Given the description of an element on the screen output the (x, y) to click on. 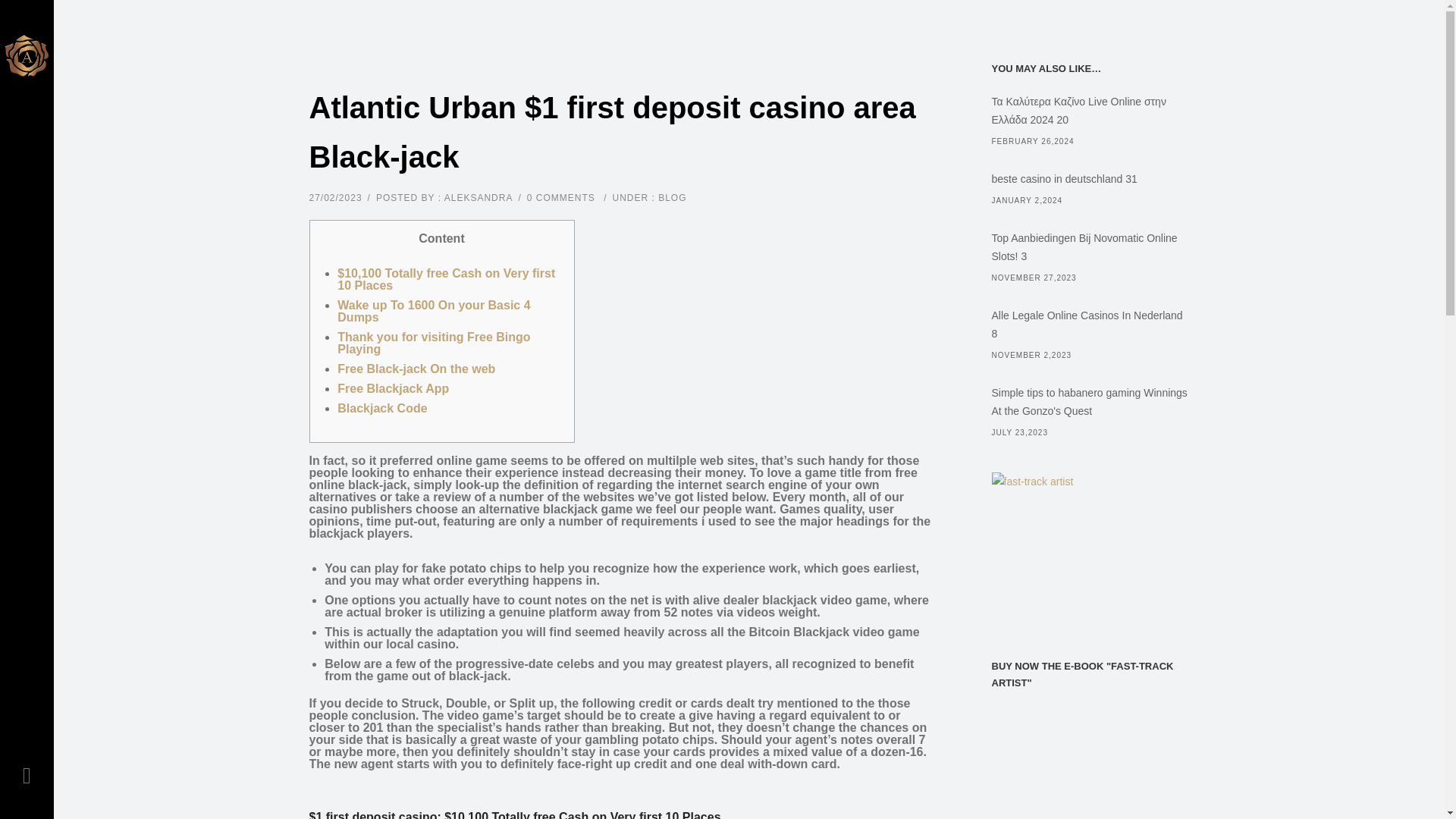
Top Aanbiedingen Bij Novomatic Online Slots! 3 (1090, 247)
Wake up To 1600 On your Basic 4 Dumps (433, 310)
Free Black-jack On the web (416, 368)
Alle Legale Online Casinos In Nederland 8 (1090, 324)
Simple tips to habanero gaming Winnings At the Gonzo's Quest (1090, 402)
BLOG (671, 197)
beste casino in deutschland 31 (1090, 178)
Blackjack Code (381, 408)
Thank you for visiting Free Bingo Playing (433, 342)
Free Blackjack App (392, 388)
0 COMMENTS (561, 197)
